Given the description of an element on the screen output the (x, y) to click on. 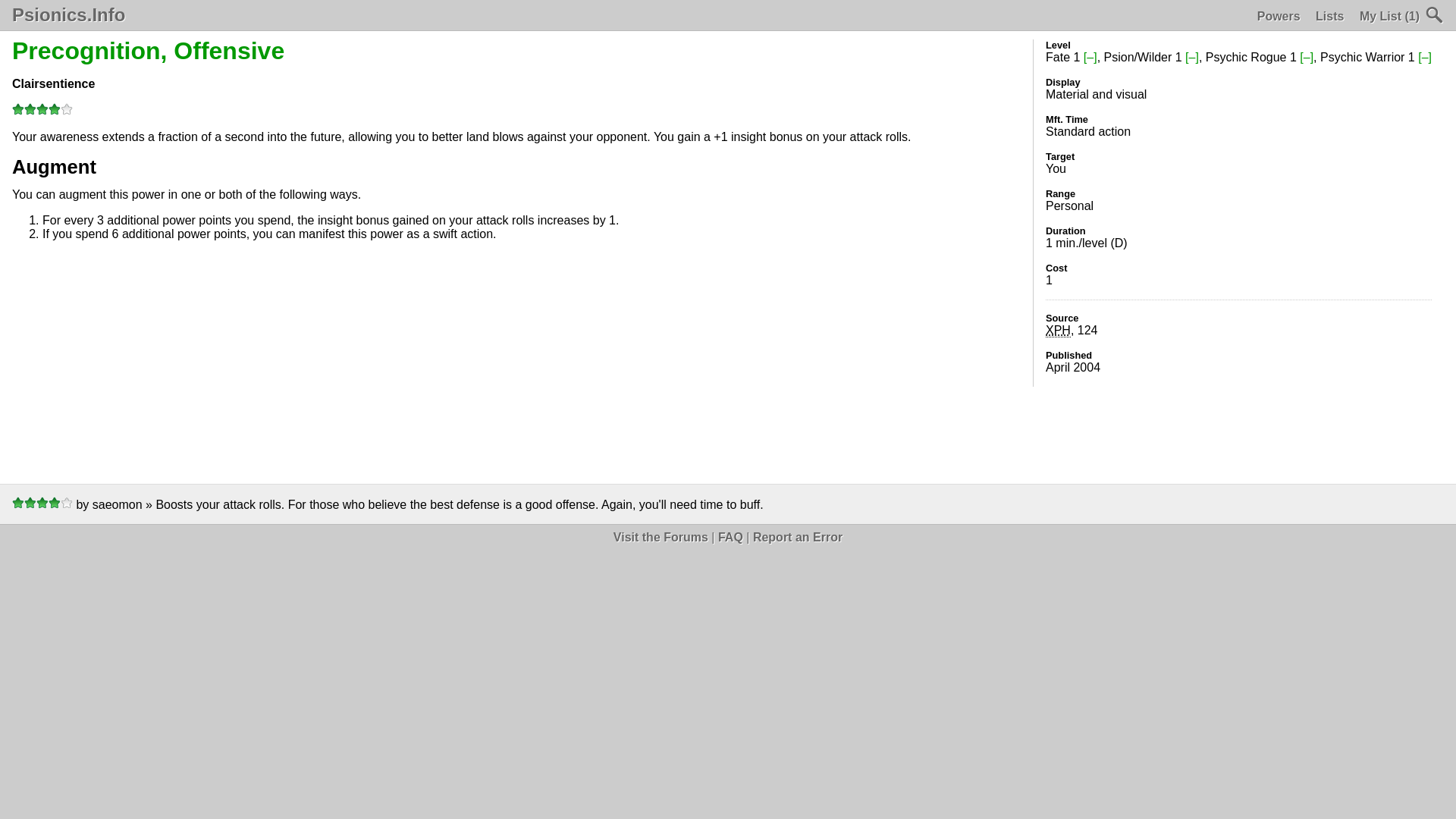
Precognition, Offensive (147, 50)
Report an Error (797, 536)
FAQ (729, 536)
Remove Precognition, Offensive from your custom list. (1424, 56)
Powers (1278, 16)
Remove Precognition, Offensive from your custom list. (1090, 56)
Psionics.Info (68, 14)
Lists (1329, 16)
View my custom access list. (1389, 16)
Search (1434, 14)
Remove Precognition, Offensive from your custom list. (1306, 56)
Average user rating of 4.0000 (41, 110)
Permalink to Precognition, Offensive (147, 50)
Index of Access Lists (1329, 16)
Home (68, 14)
